Given the description of an element on the screen output the (x, y) to click on. 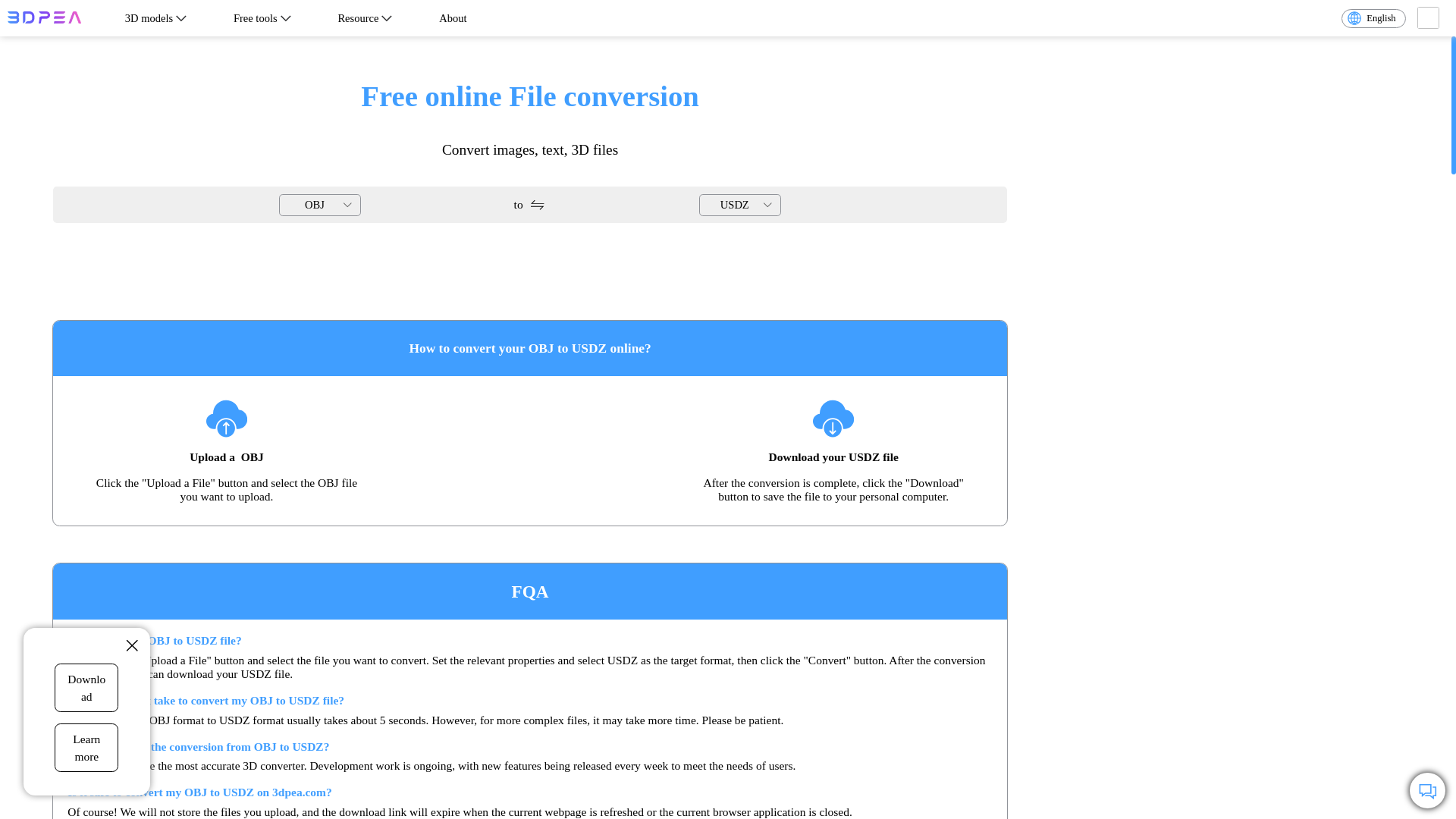
3D models (157, 17)
